Given the description of an element on the screen output the (x, y) to click on. 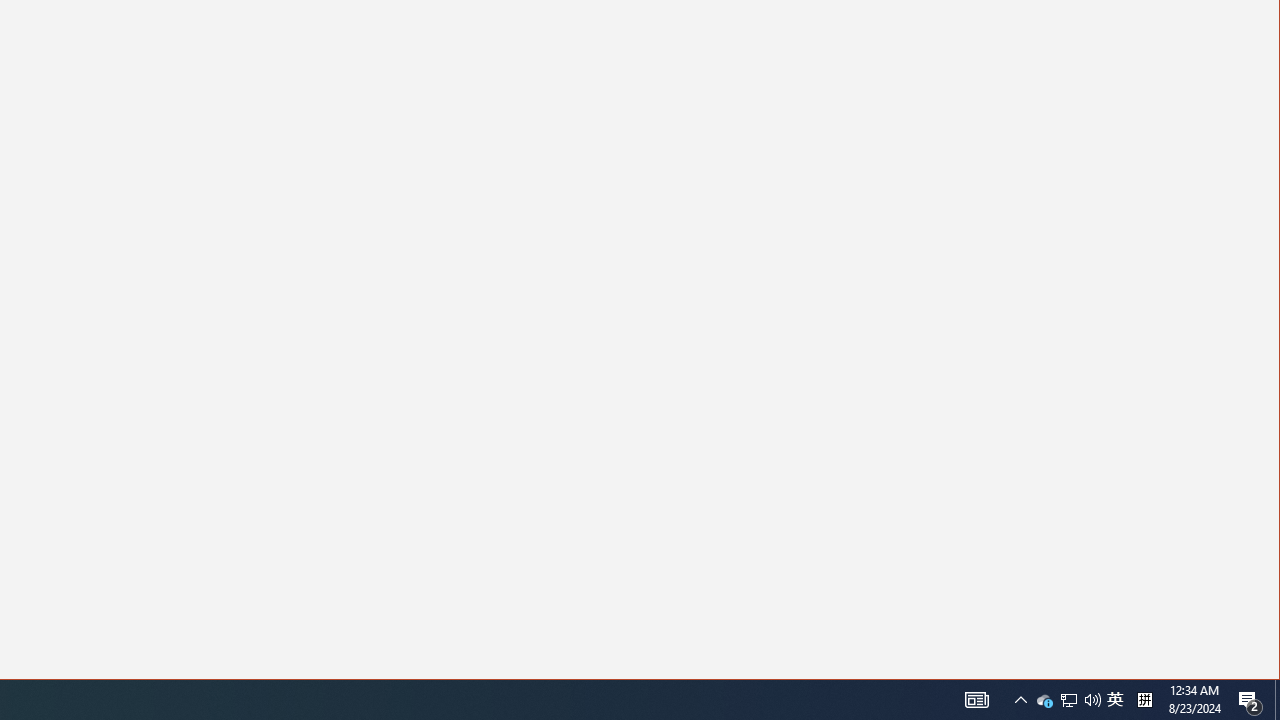
User Promoted Notification Area (1069, 699)
Notification Chevron (1068, 699)
Action Center, 2 new notifications (1020, 699)
AutomationID: 4105 (1250, 699)
Tray Input Indicator - Chinese (Simplified, China) (976, 699)
Q2790: 100% (1144, 699)
Show desktop (1044, 699)
